Given the description of an element on the screen output the (x, y) to click on. 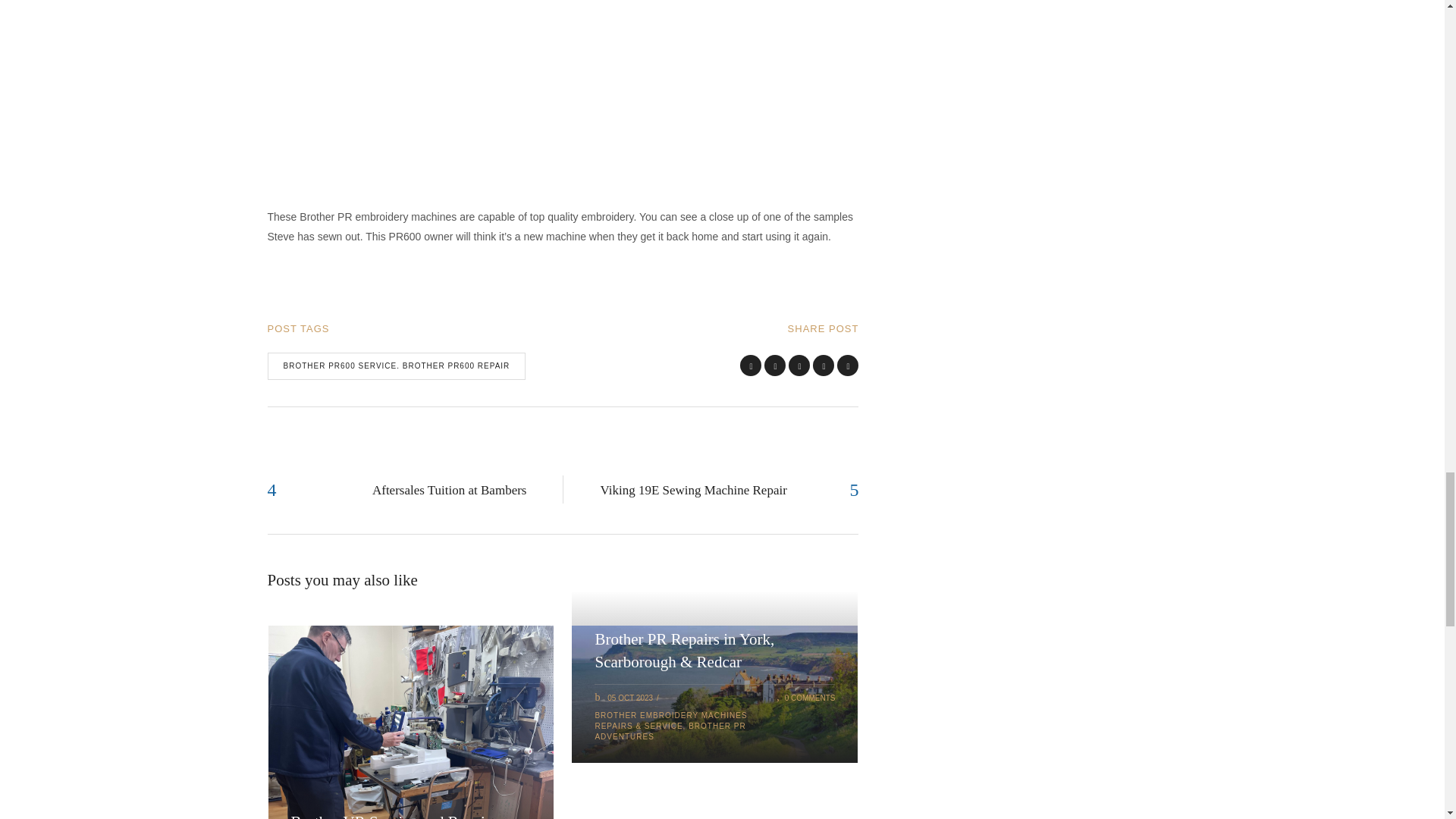
PR600 embroidery sample (380, 100)
